Given the description of an element on the screen output the (x, y) to click on. 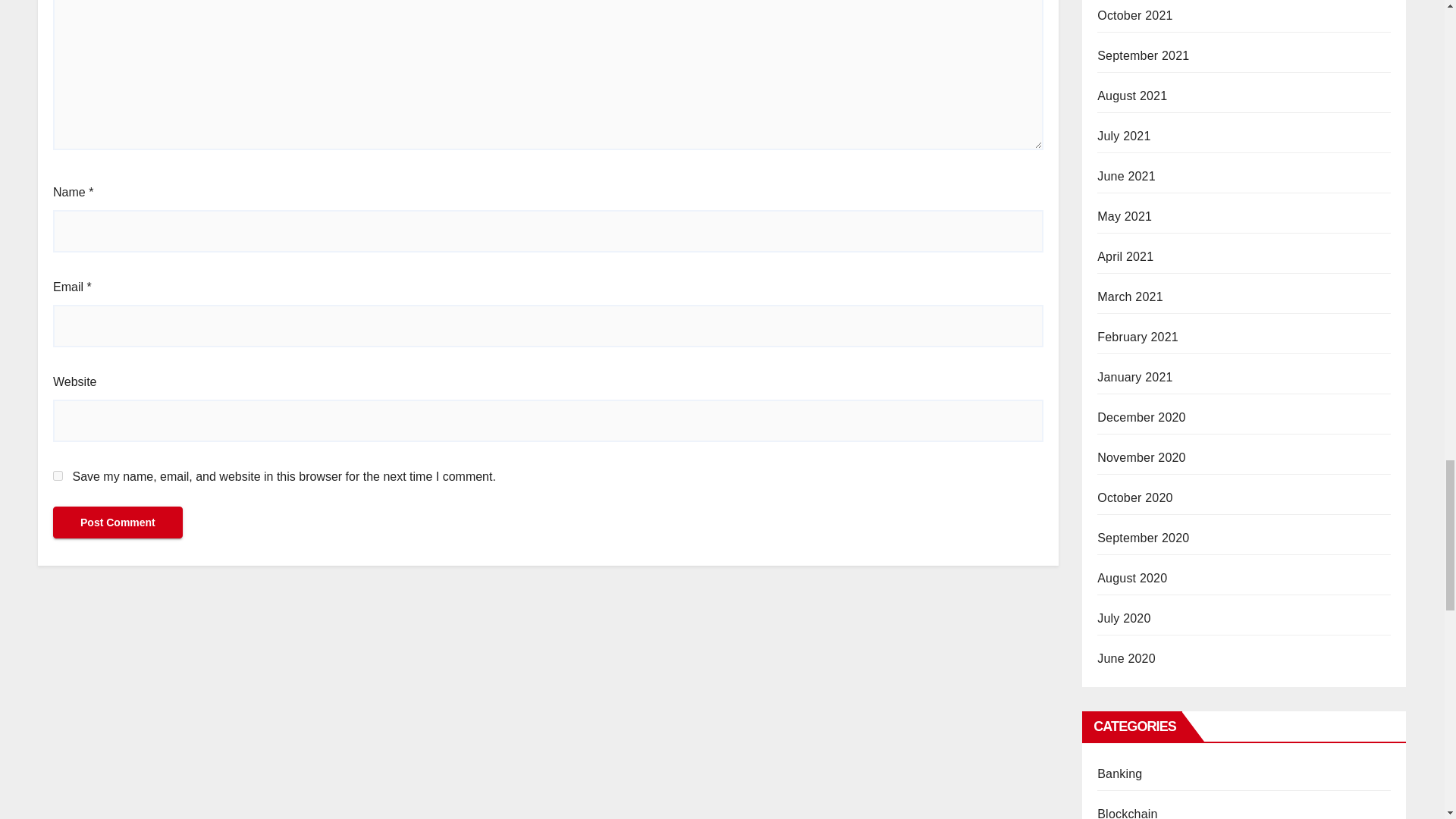
Post Comment (117, 522)
yes (57, 475)
Post Comment (117, 522)
